Given the description of an element on the screen output the (x, y) to click on. 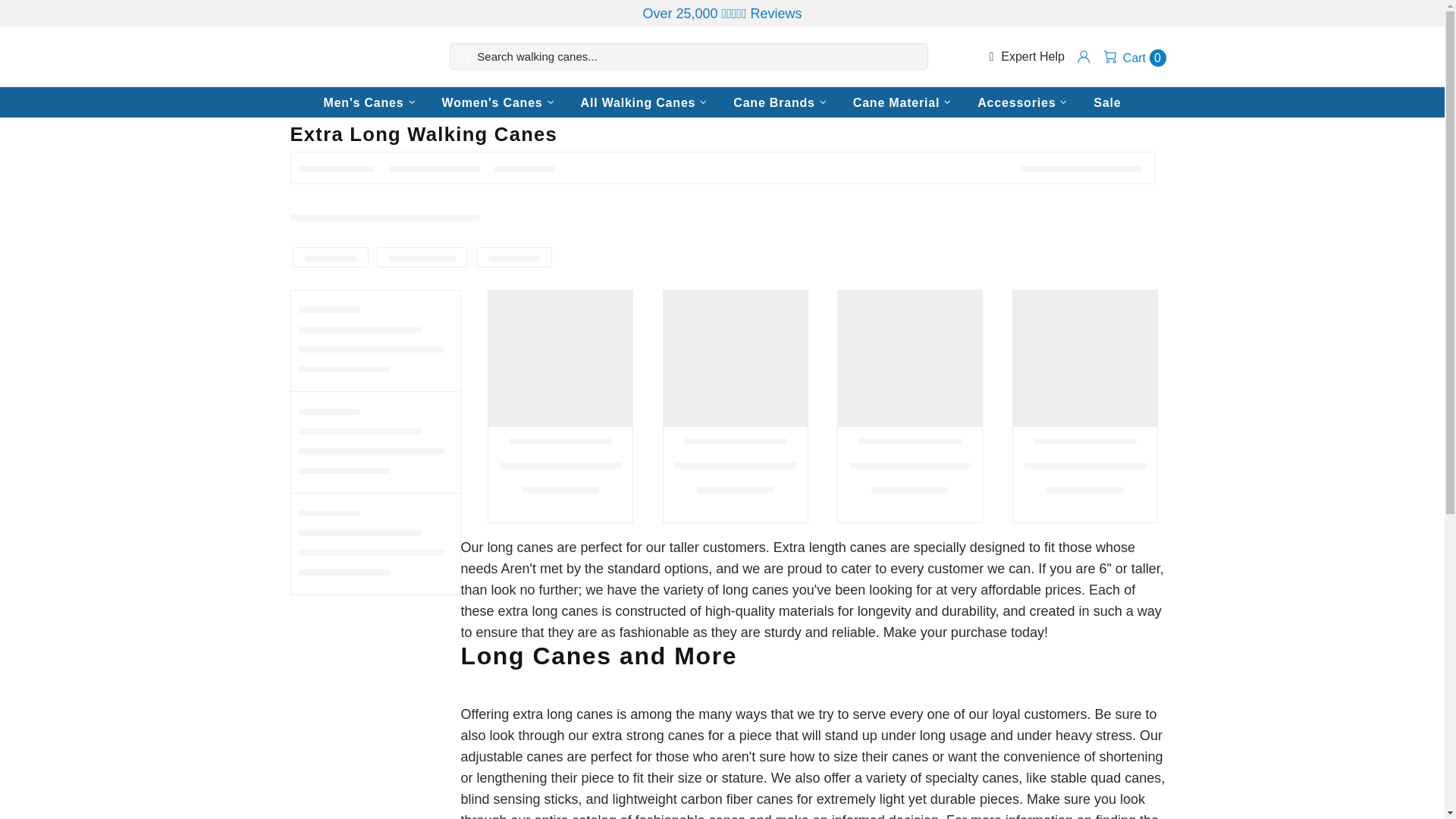
Expert Help (1026, 56)
Men's Canes (370, 101)
Fashionable Canes (346, 56)
Cart 0 (1134, 55)
